Given the description of an element on the screen output the (x, y) to click on. 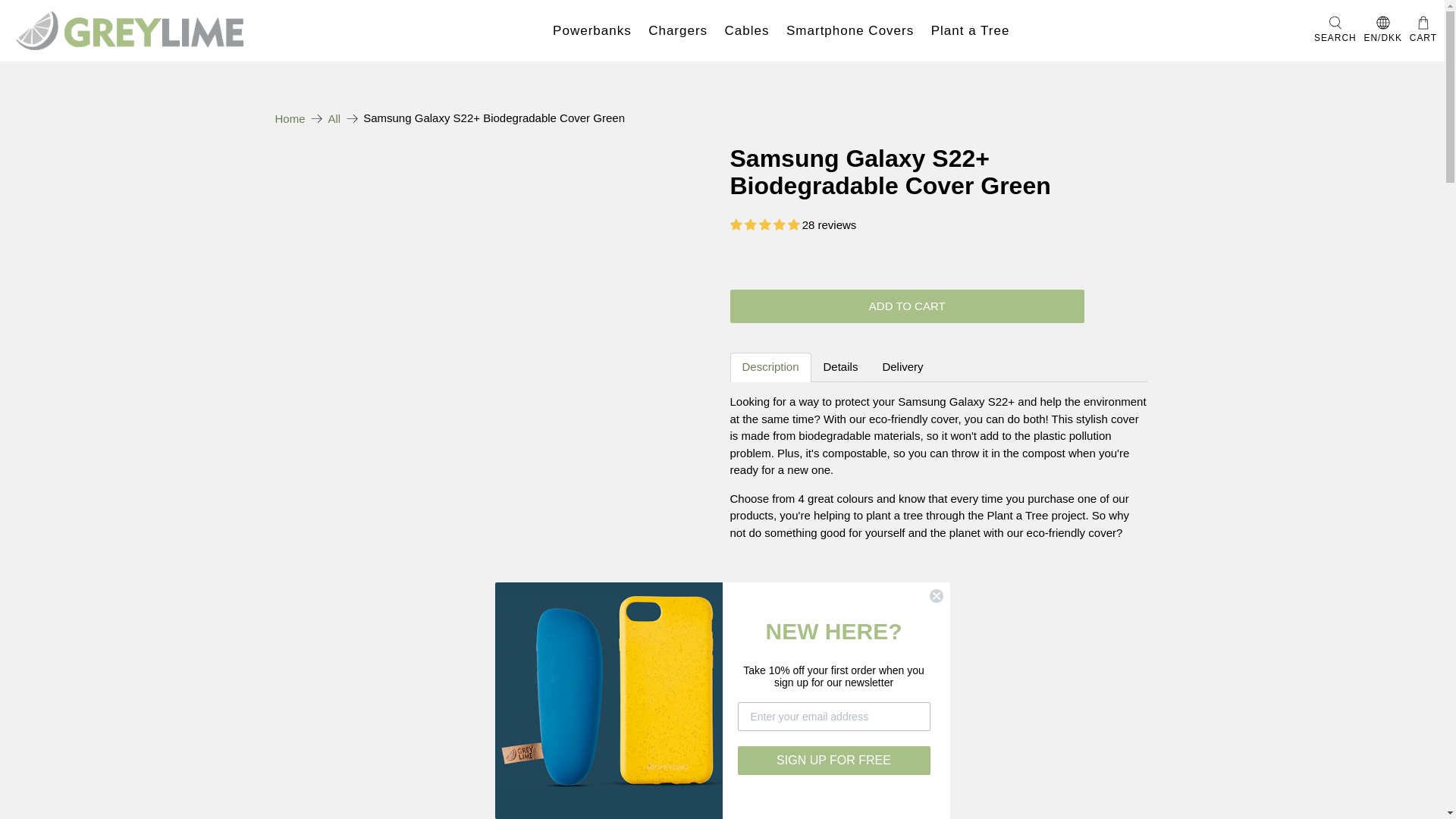
Plant a Tree (969, 30)
Cables (746, 30)
Chargers (678, 30)
GreyLime (289, 117)
Close dialog 2 (935, 595)
Powerbanks (592, 30)
CART (1423, 30)
GreyLime (129, 30)
Smartphone Covers (850, 30)
